Given the description of an element on the screen output the (x, y) to click on. 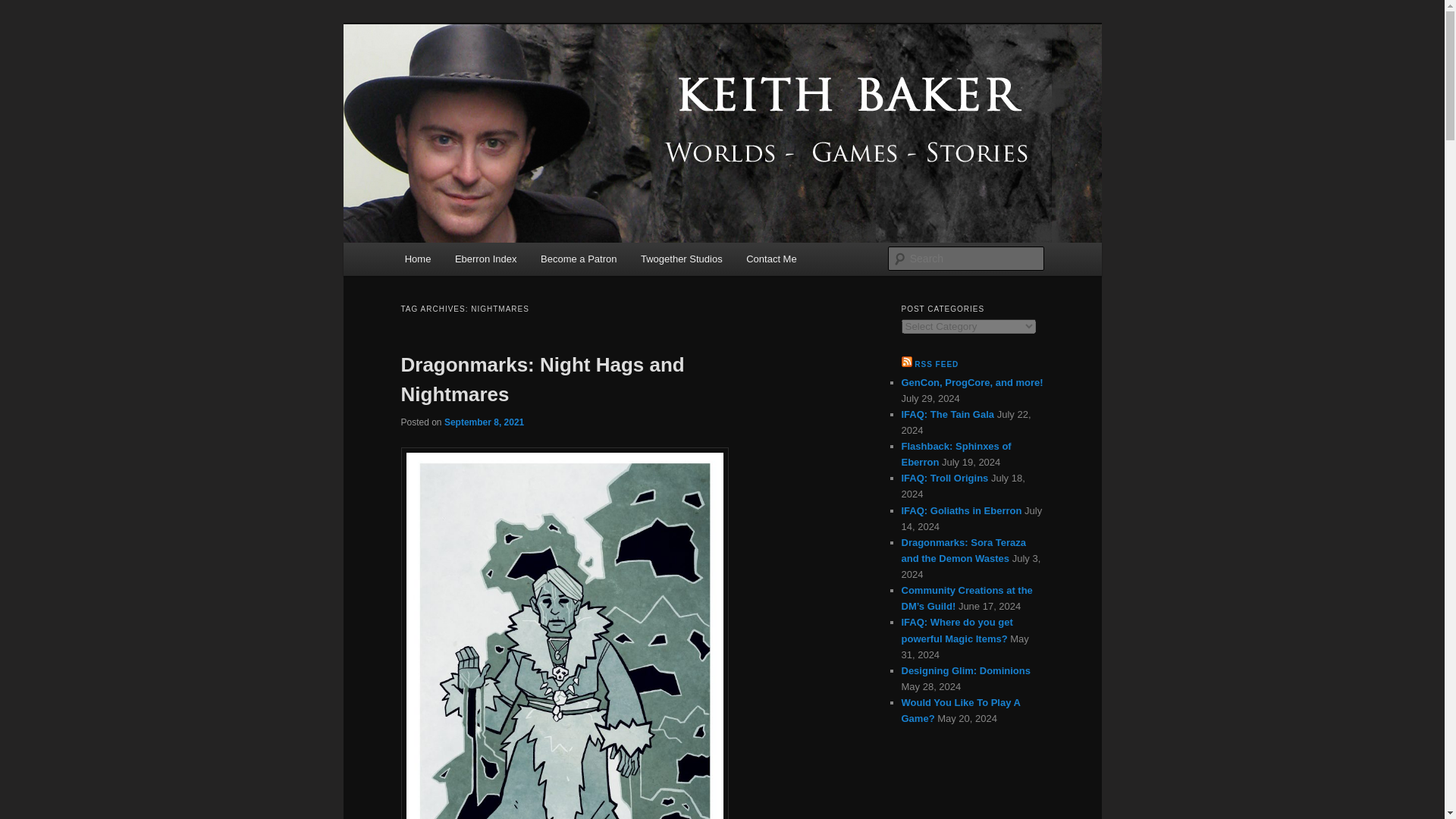
IFAQ: The Tain Gala (947, 414)
RSS FEED (936, 364)
Flashback: Sphinxes of Eberron (955, 453)
Designing Glim: Dominions (965, 670)
IFAQ: Troll Origins (944, 478)
Twogether Studios (680, 258)
Eberron Index (485, 258)
10:40 pm (484, 421)
Would You Like To Play A Game? (960, 709)
Dragonmarks: Sora Teraza and the Demon Wastes (963, 550)
IFAQ: Goliaths in Eberron (961, 510)
Search (24, 8)
September 8, 2021 (484, 421)
Home (417, 258)
Contact Me (770, 258)
